Given the description of an element on the screen output the (x, y) to click on. 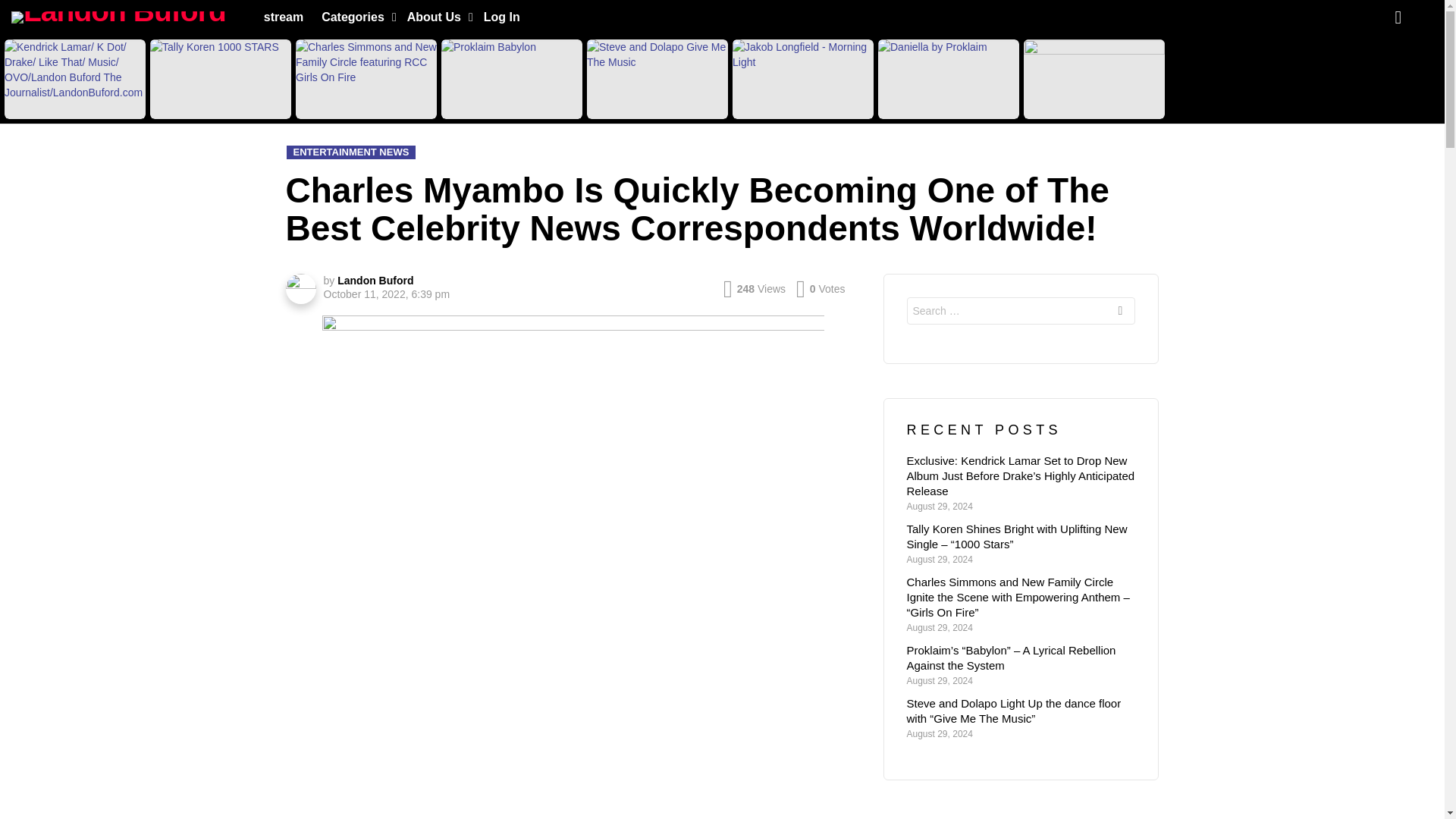
Categories (355, 16)
Log In (501, 16)
stream (283, 16)
About Us (435, 16)
Posts by Landon Buford (375, 280)
